Given the description of an element on the screen output the (x, y) to click on. 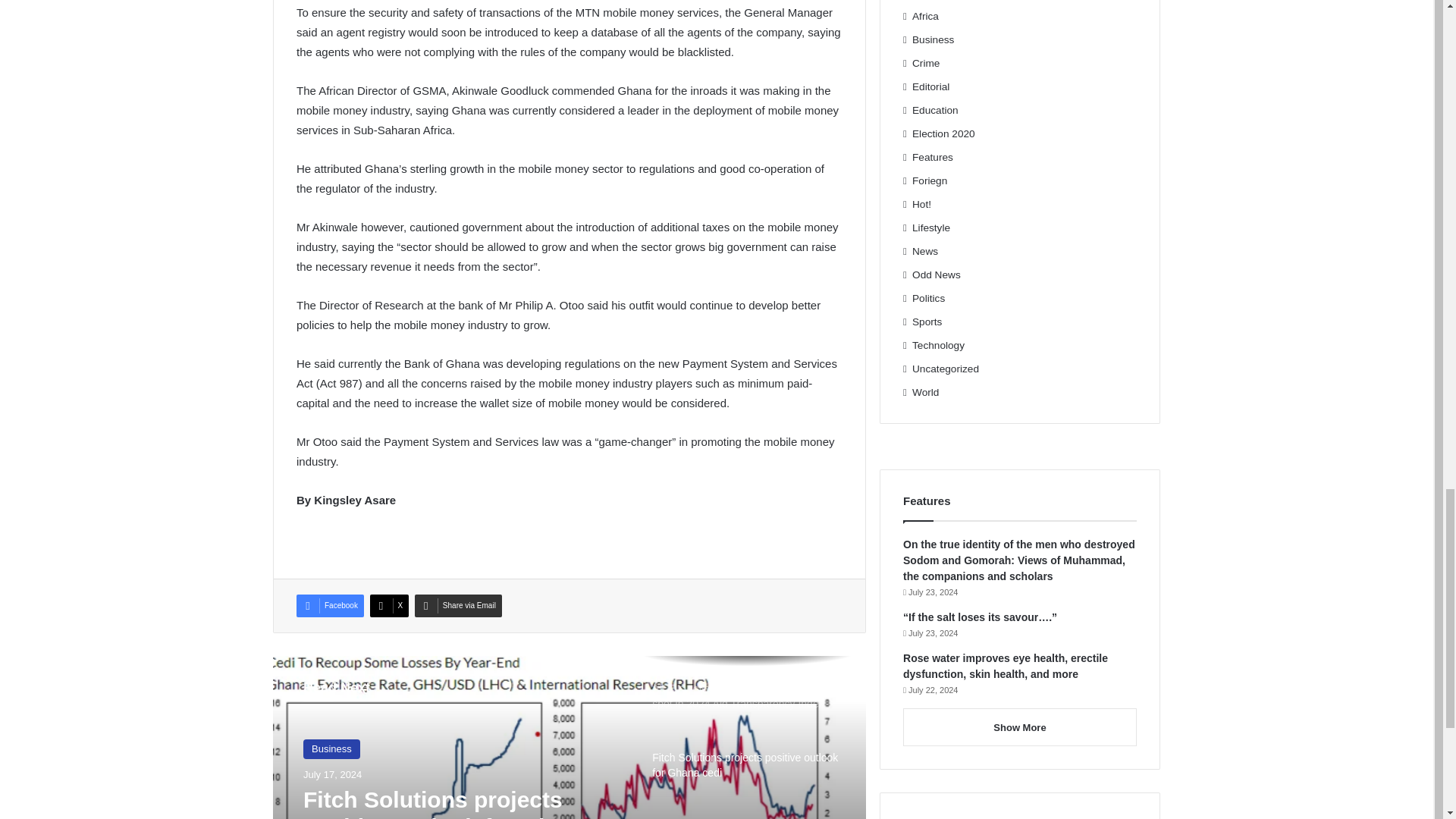
Share via Email (458, 605)
Facebook (330, 605)
Share via Email (458, 605)
X (389, 605)
X (389, 605)
Facebook (330, 605)
